Given the description of an element on the screen output the (x, y) to click on. 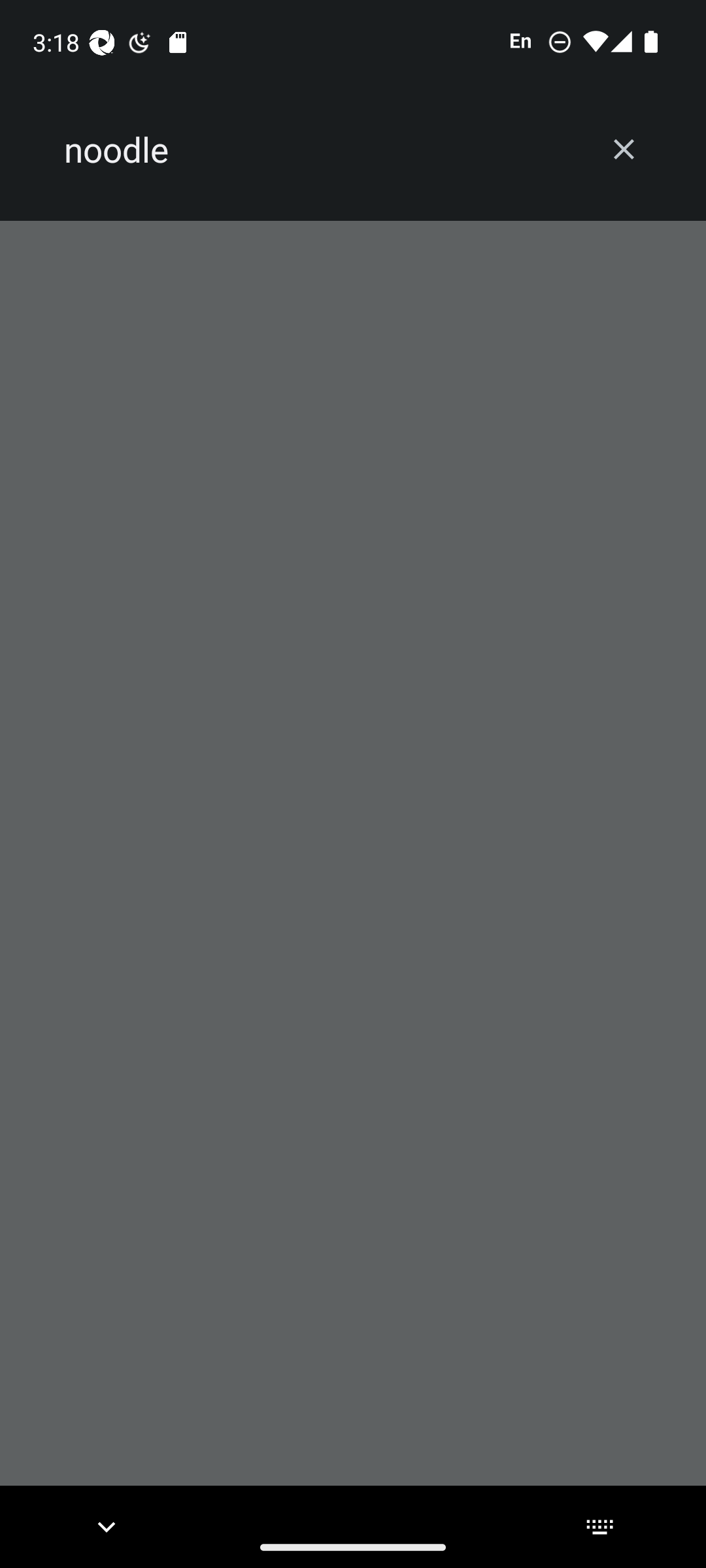
noodle (321, 149)
Clear search box (623, 149)
